Given the description of an element on the screen output the (x, y) to click on. 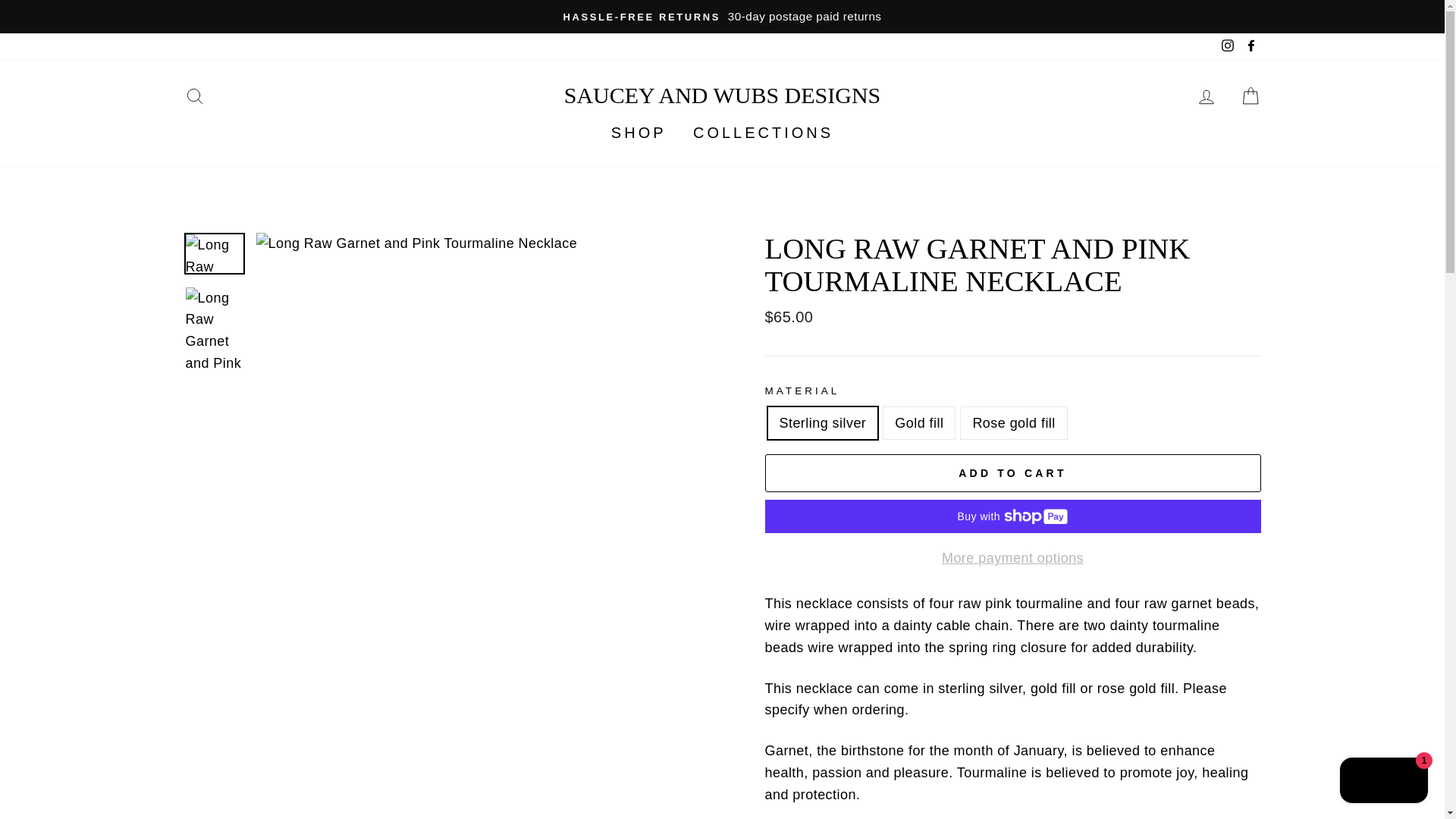
SAUCEY AND WUBS DESIGNS (722, 94)
SHOP (638, 132)
SEARCH (194, 94)
LOG IN (1205, 94)
CART (1249, 94)
Shopify online store chat (1383, 781)
